Given the description of an element on the screen output the (x, y) to click on. 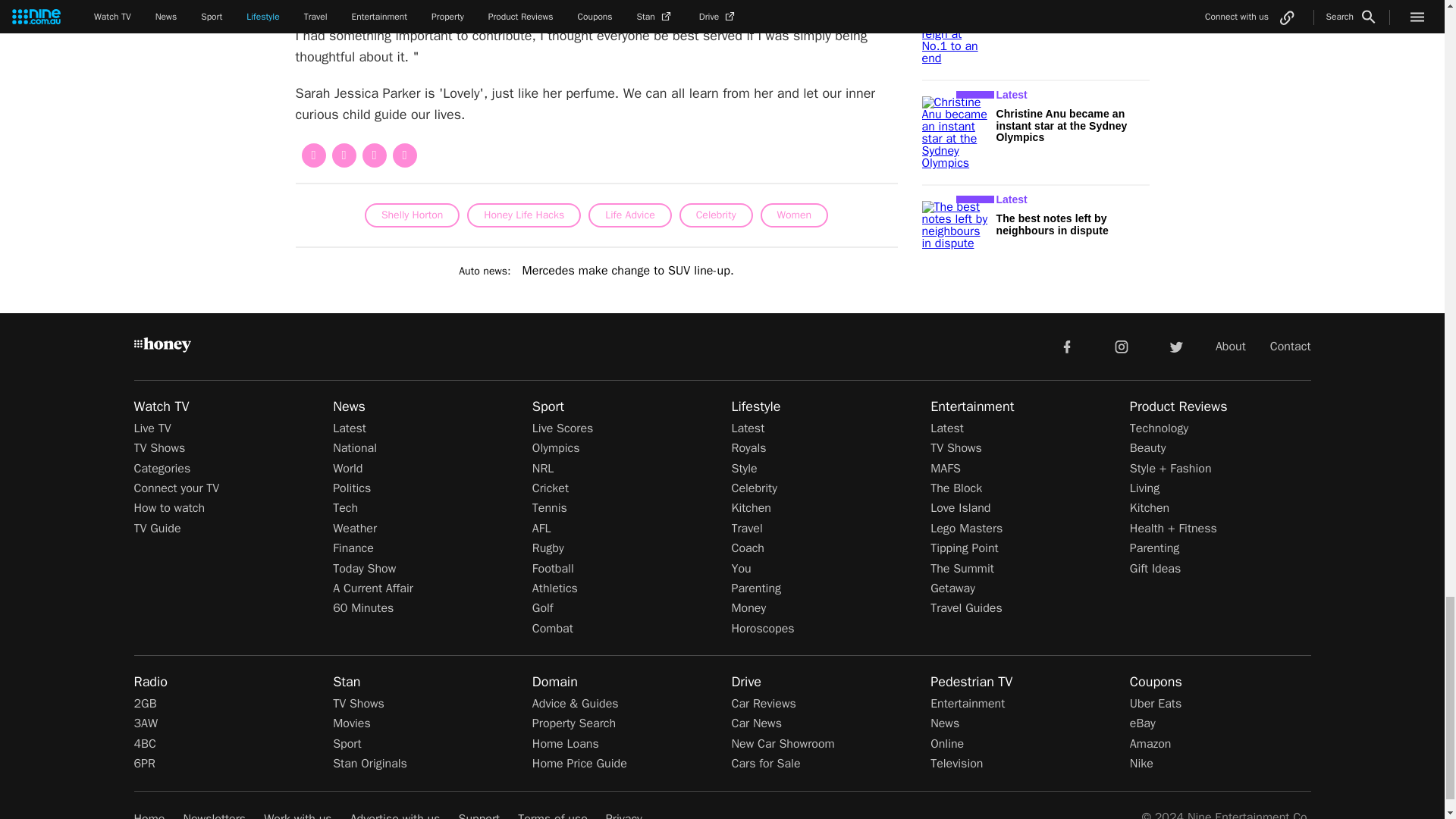
Shelly Horton (412, 215)
instagram (1121, 345)
twitter (1175, 345)
Auto news: Mercedes make change to SUV line-up. (596, 270)
Life Advice (629, 215)
Honey Life Hacks (523, 215)
facebook (1066, 345)
Women (794, 215)
Celebrity (715, 215)
